Given the description of an element on the screen output the (x, y) to click on. 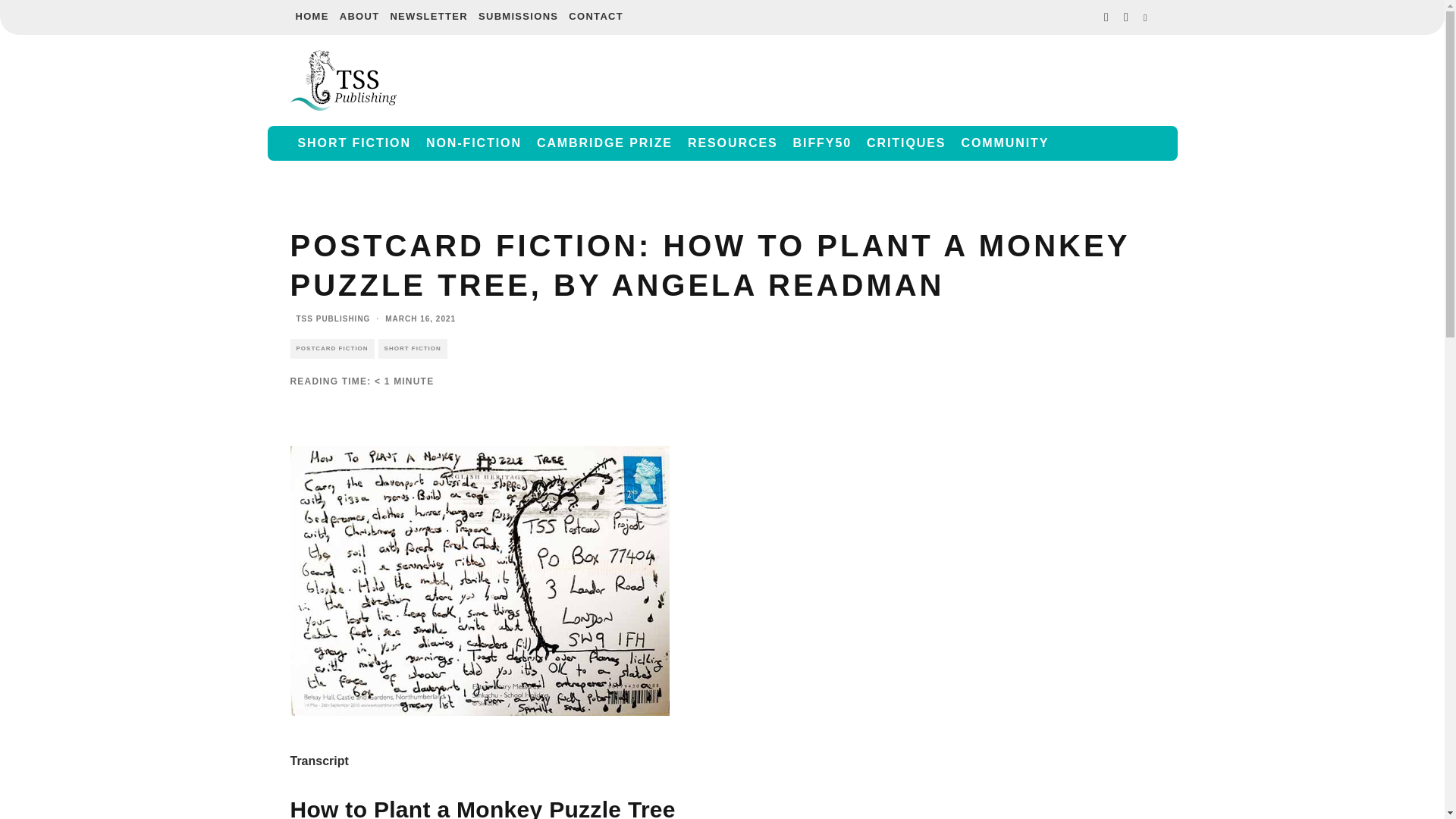
BIFFY50 (822, 143)
POSTCARD FICTION (331, 348)
CONTACT (595, 16)
SHORT FICTION (353, 143)
NEWSLETTER (428, 16)
NON-FICTION (474, 143)
SHORT FICTION (412, 348)
TSS PUBLISHING (332, 318)
CAMBRIDGE PRIZE (604, 143)
HOME (311, 16)
CRITIQUES (906, 143)
ABOUT (359, 16)
RESOURCES (732, 143)
SUBMISSIONS (518, 16)
COMMUNITY (1005, 143)
